Given the description of an element on the screen output the (x, y) to click on. 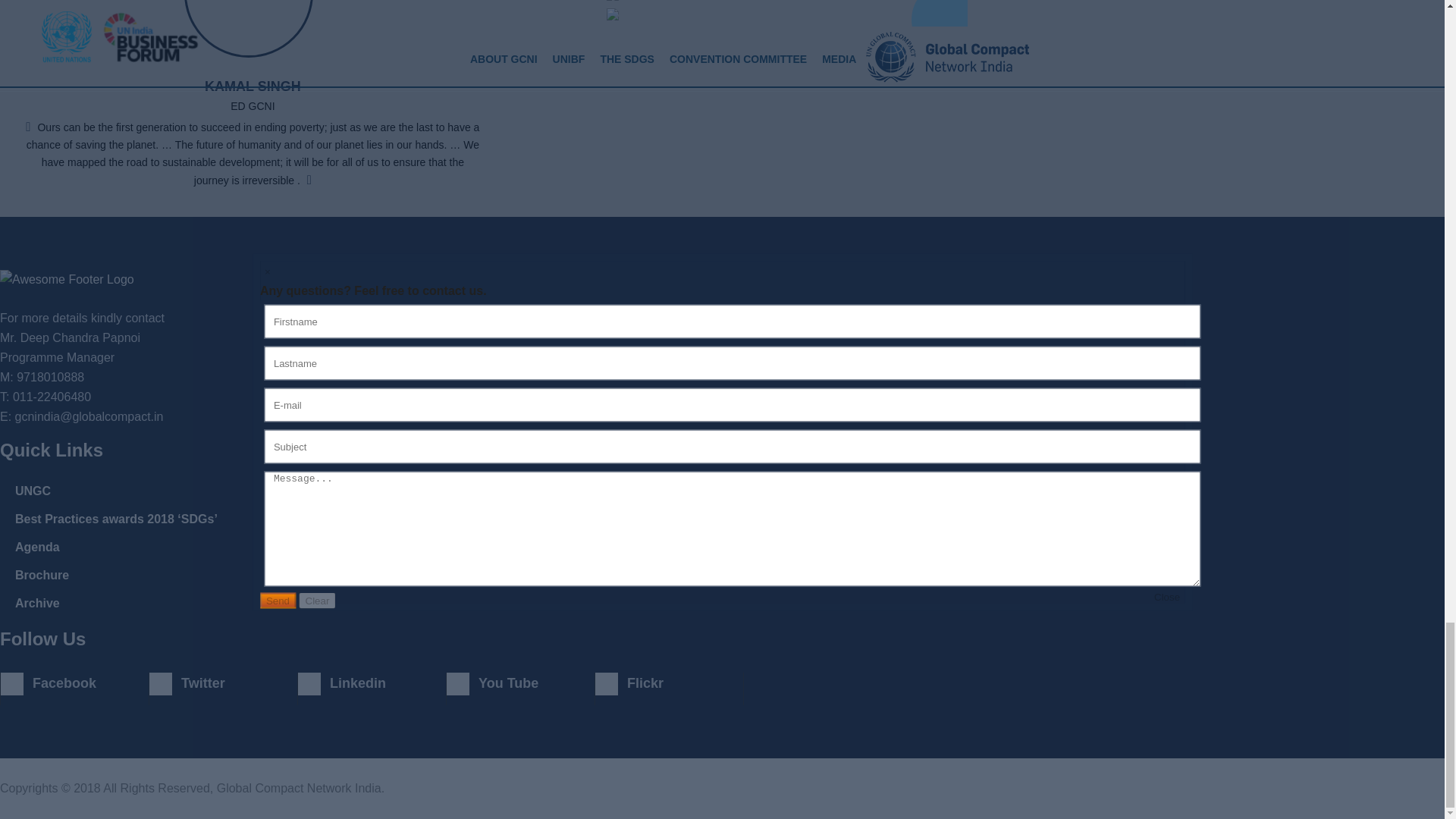
Facebook (74, 683)
Linkedin (371, 683)
Agenda (36, 546)
UNGC (32, 490)
Twitter (223, 683)
Flickr (668, 683)
Brochure (41, 574)
You Tube (520, 683)
Archive (36, 603)
